Given the description of an element on the screen output the (x, y) to click on. 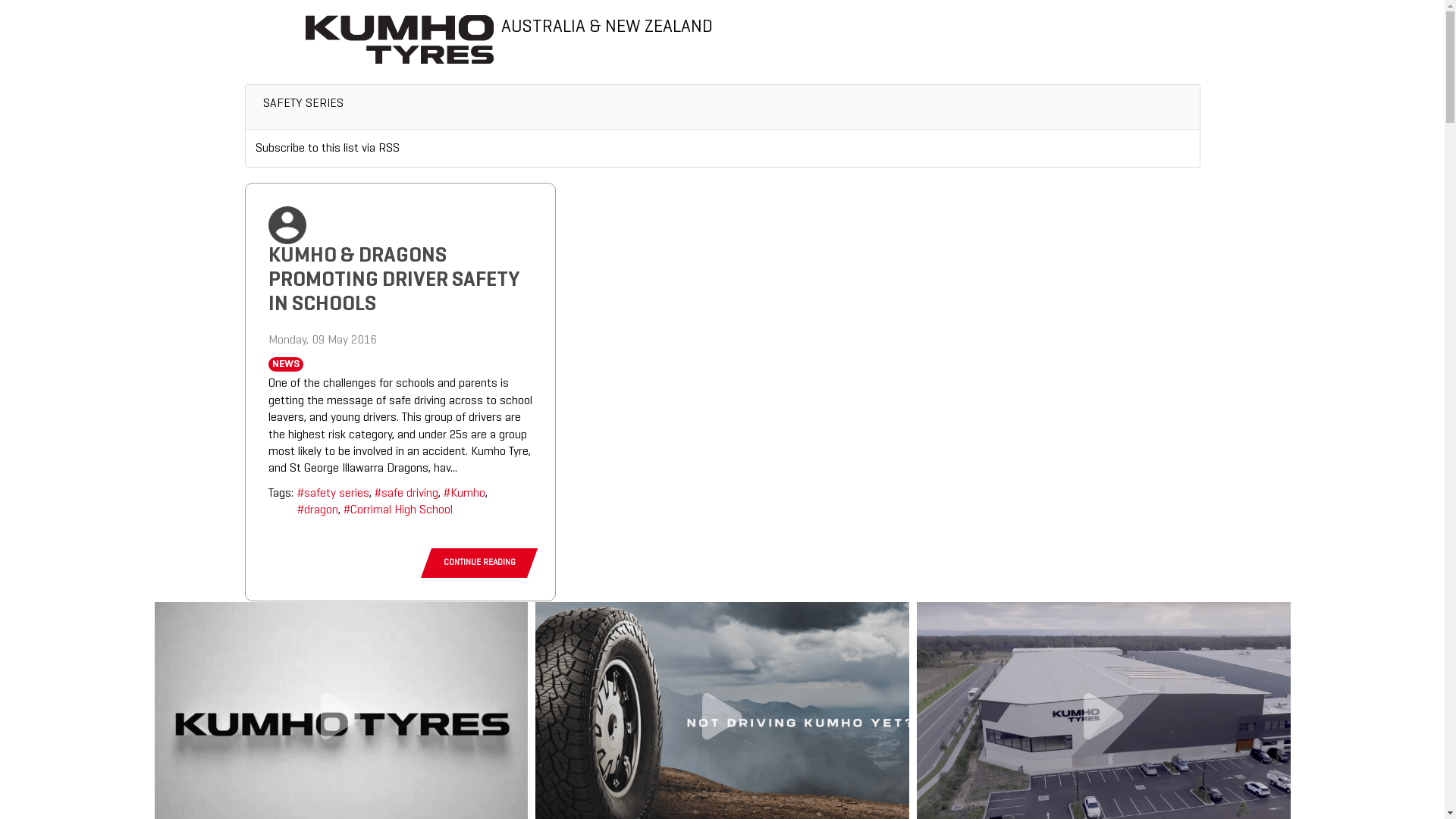
safe driving Element type: text (406, 493)
Corrimal High School Element type: text (396, 510)
Subscribe to this list via RSS Element type: text (327, 148)
SAFETY SERIES Element type: text (303, 108)
Kumho Element type: text (463, 493)
NEWS Element type: text (284, 364)
KUMHO & DRAGONS PROMOTING DRIVER SAFETY IN SCHOOLS Element type: text (393, 280)
safety series Element type: text (333, 493)
CONTINUE READING Element type: text (478, 563)
dragon Element type: text (317, 510)
